Given the description of an element on the screen output the (x, y) to click on. 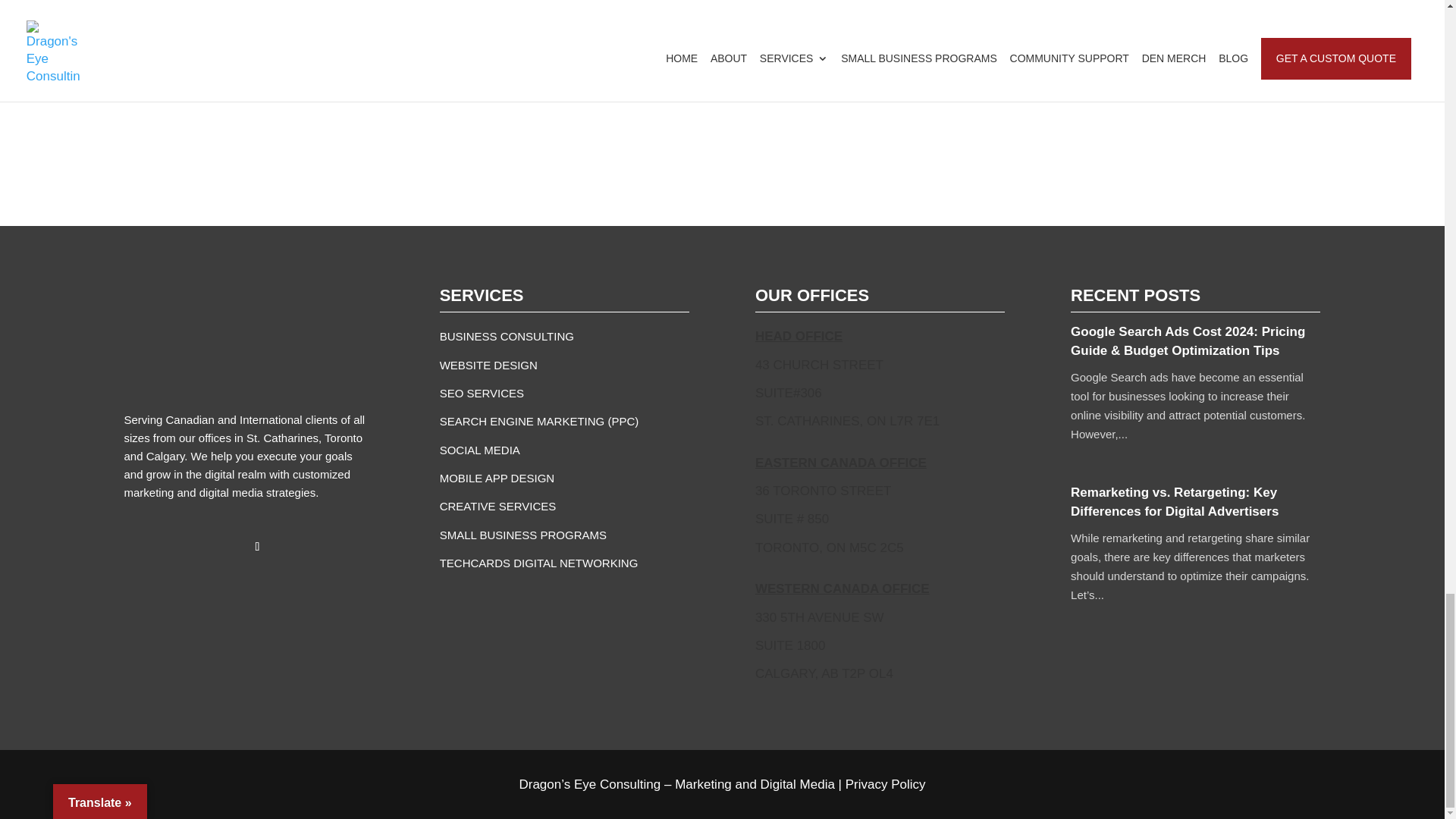
Follow on LinkedIn (227, 546)
Dragon's Eye (169, 332)
Follow on Instagram (196, 546)
Follow on TikTok (257, 546)
Follow on X (166, 546)
Follow on Facebook (135, 546)
